Given the description of an element on the screen output the (x, y) to click on. 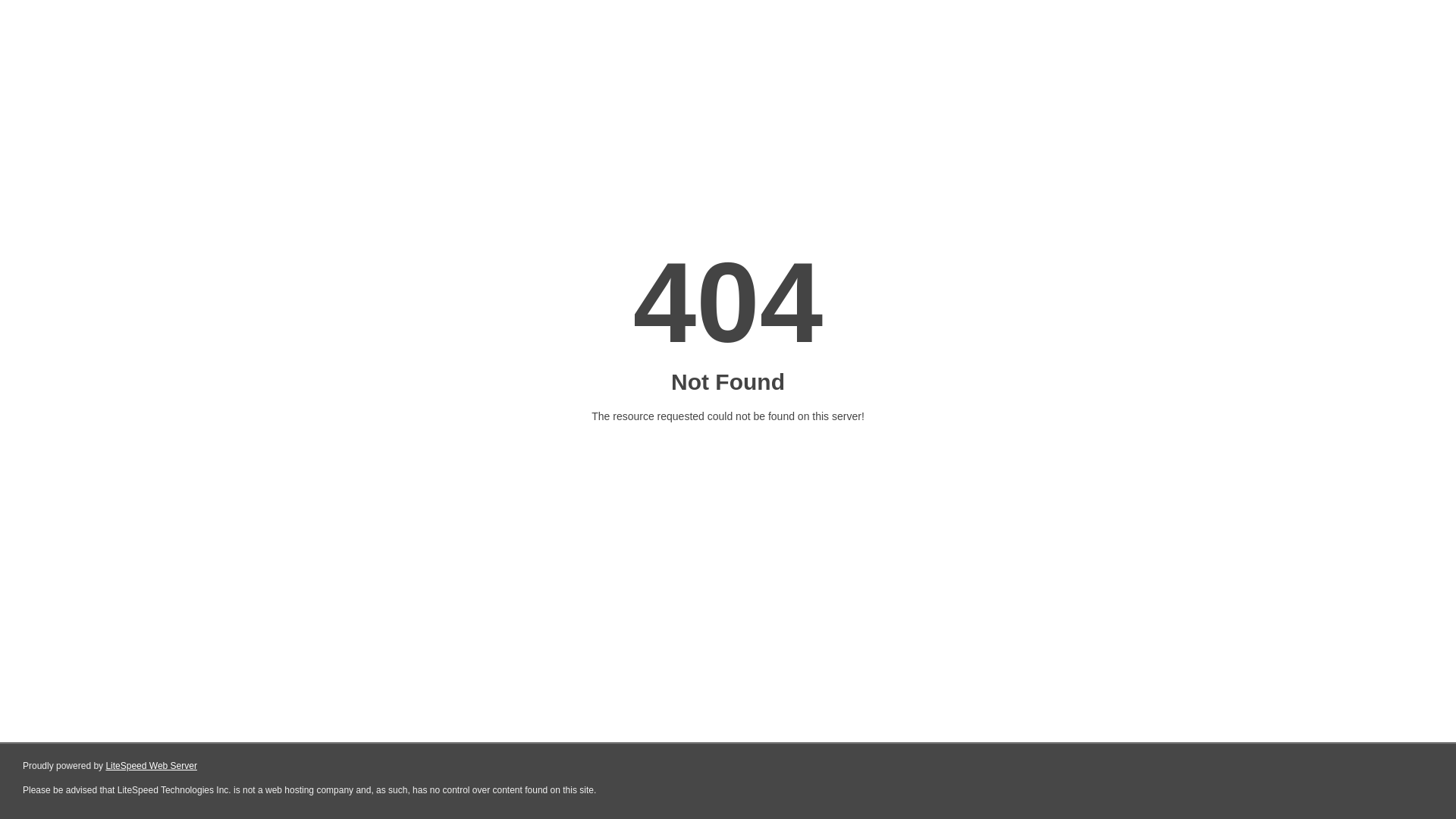
LiteSpeed Web Server Element type: text (151, 765)
